Given the description of an element on the screen output the (x, y) to click on. 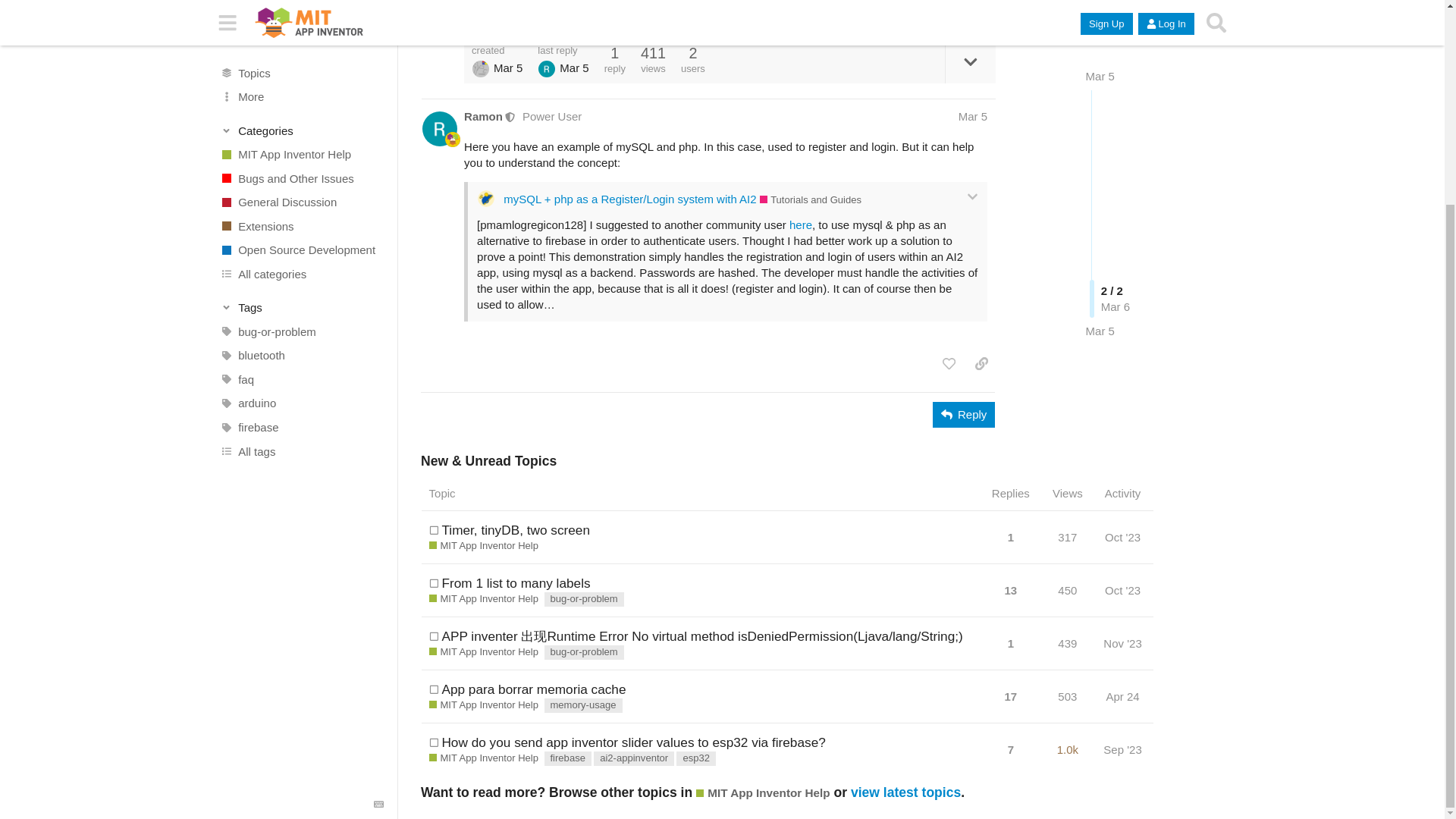
All categories (301, 11)
Keyboard Shortcuts (378, 541)
faq (301, 116)
Mar 5 (1100, 110)
bluetooth (301, 92)
bug-or-problem (301, 68)
Tags (301, 44)
last reply (562, 50)
firebase (301, 164)
All tags (301, 187)
Toggle section (301, 44)
arduino (301, 139)
